Given the description of an element on the screen output the (x, y) to click on. 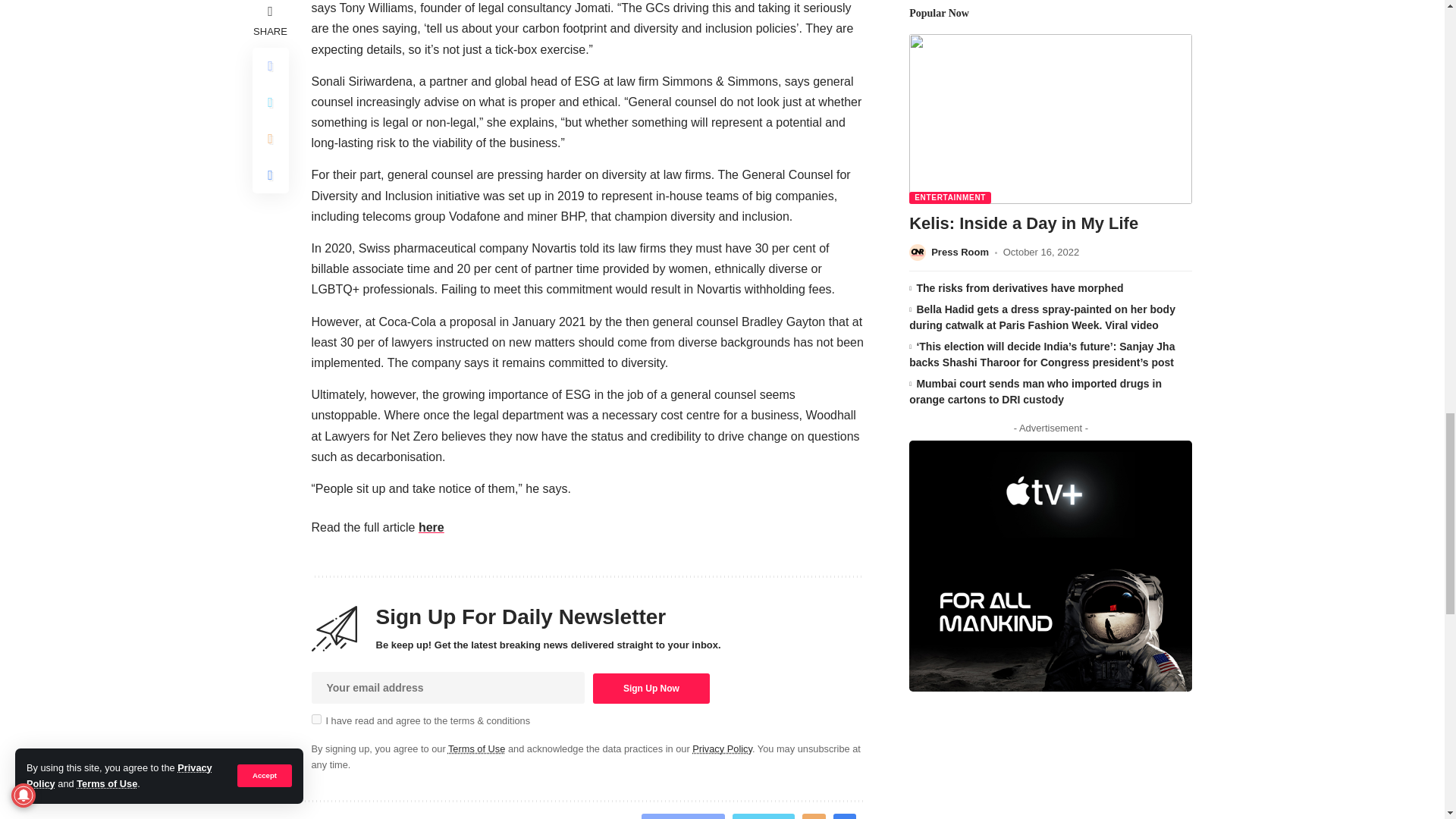
1 (315, 718)
Sign Up Now (651, 688)
